Given the description of an element on the screen output the (x, y) to click on. 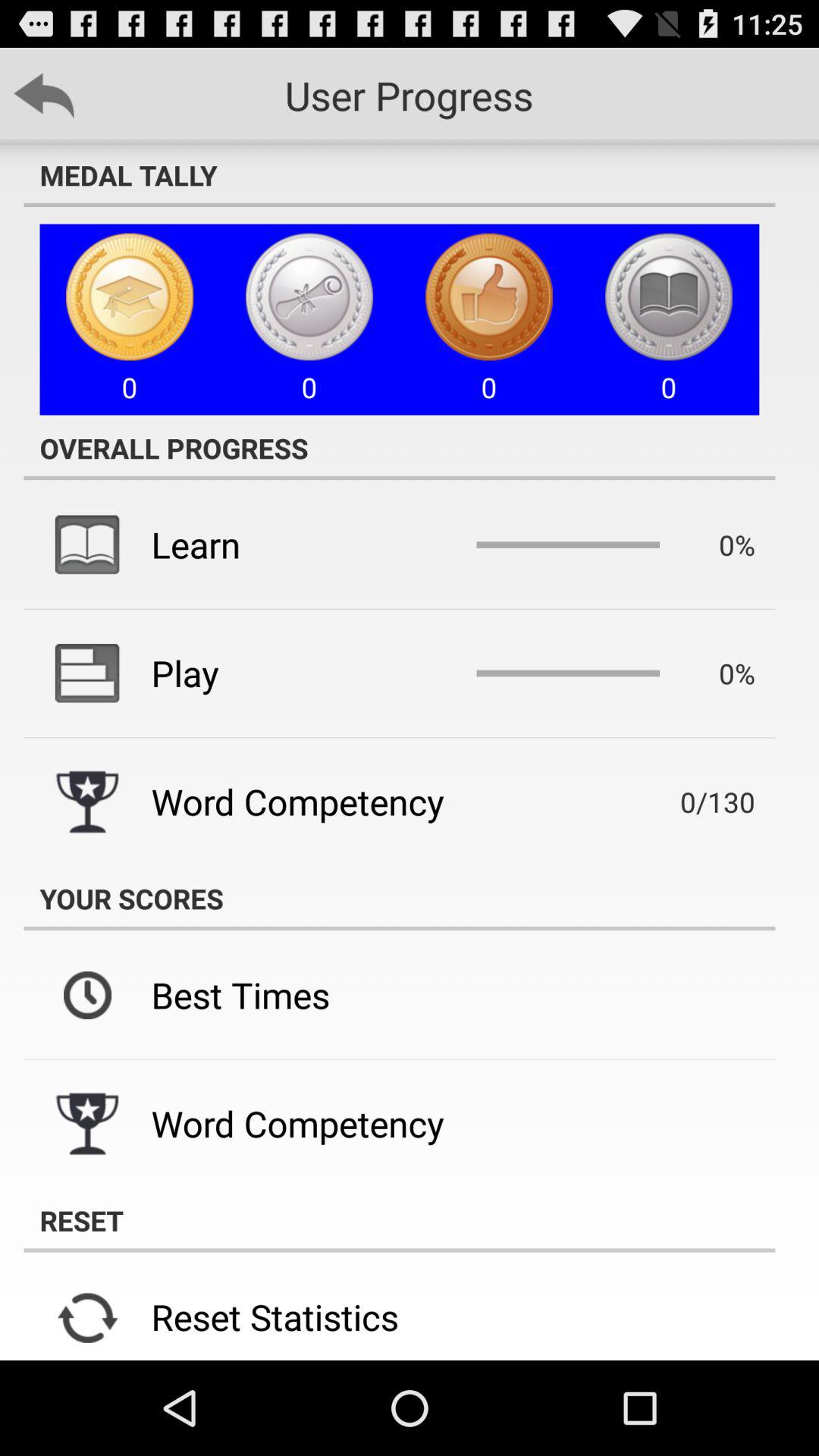
turn on icon above the your scores (695, 801)
